Given the description of an element on the screen output the (x, y) to click on. 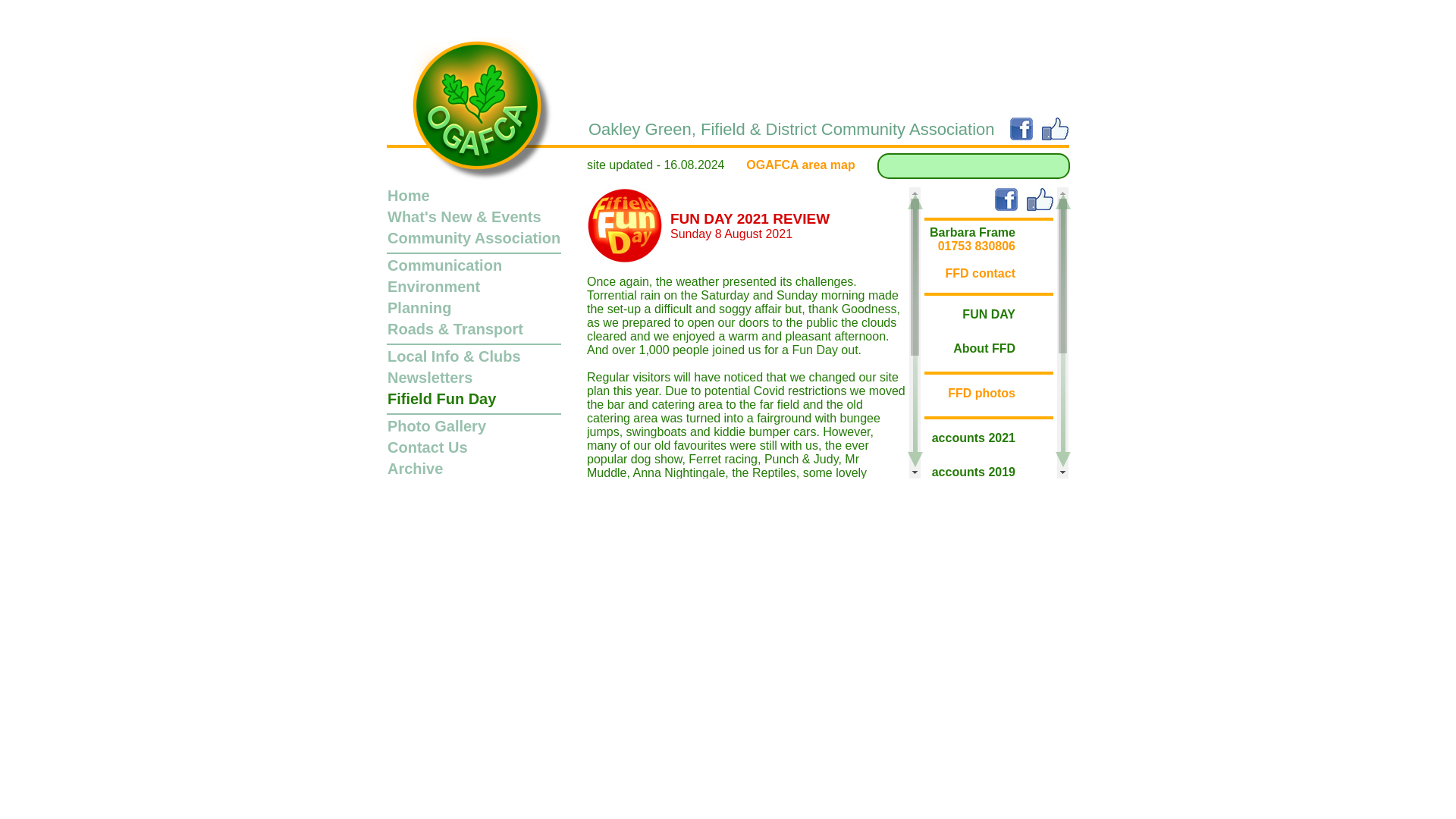
OGAFCA area map (799, 164)
Communication (444, 265)
Community Association (473, 238)
Photo Gallery (436, 425)
Contact Us (427, 446)
Home (408, 195)
Archive (414, 468)
Fifield Fun Day (441, 398)
Newsletters (429, 377)
Planning (419, 307)
